Given the description of an element on the screen output the (x, y) to click on. 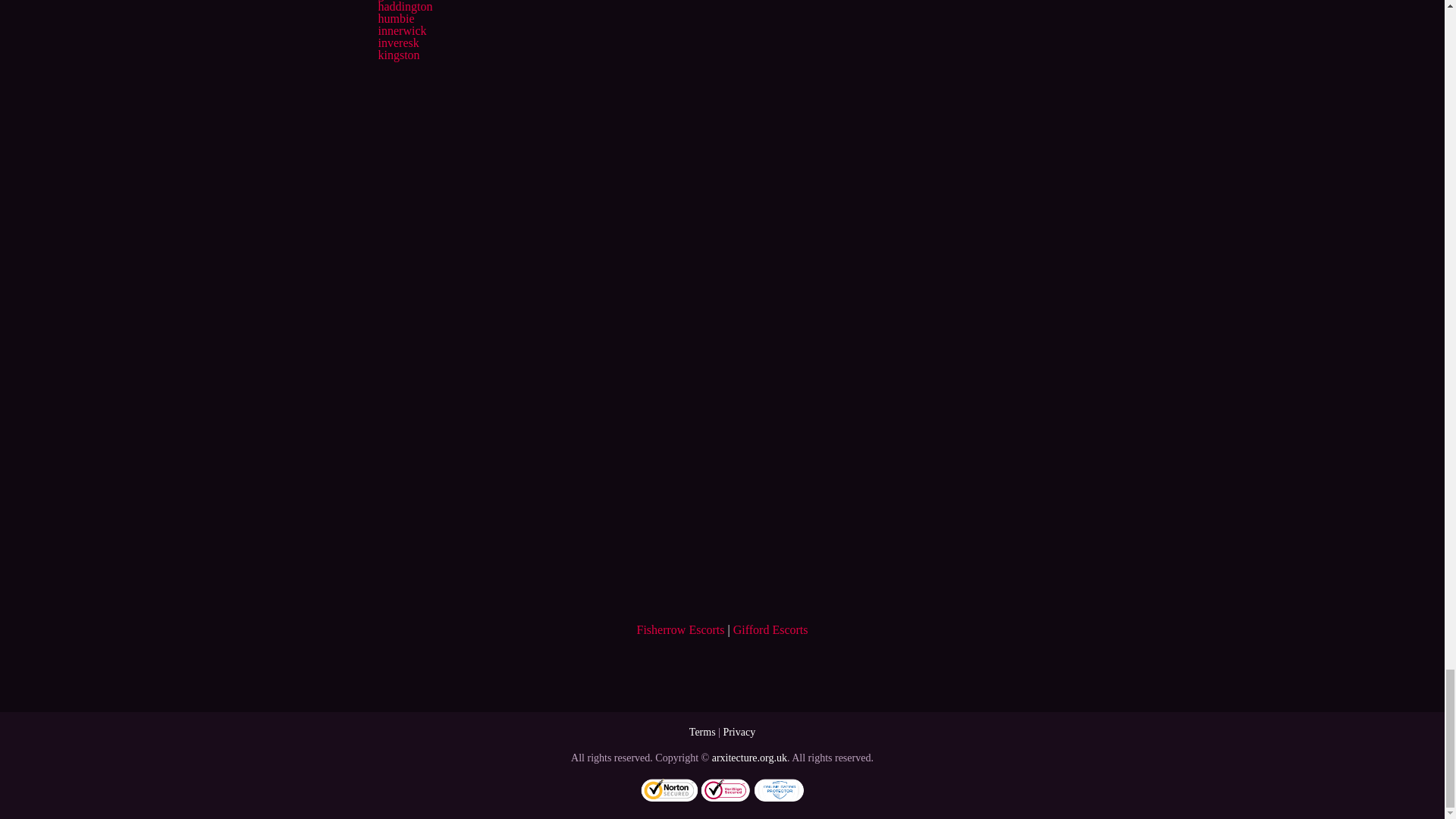
Gifford Escorts (770, 629)
innerwick (401, 30)
Fisherrow Escorts (681, 629)
Terms (702, 731)
haddington (404, 6)
Privacy (738, 731)
inveresk (398, 42)
arxitecture.org.uk (749, 757)
humbie (395, 18)
kingston (398, 54)
